Given the description of an element on the screen output the (x, y) to click on. 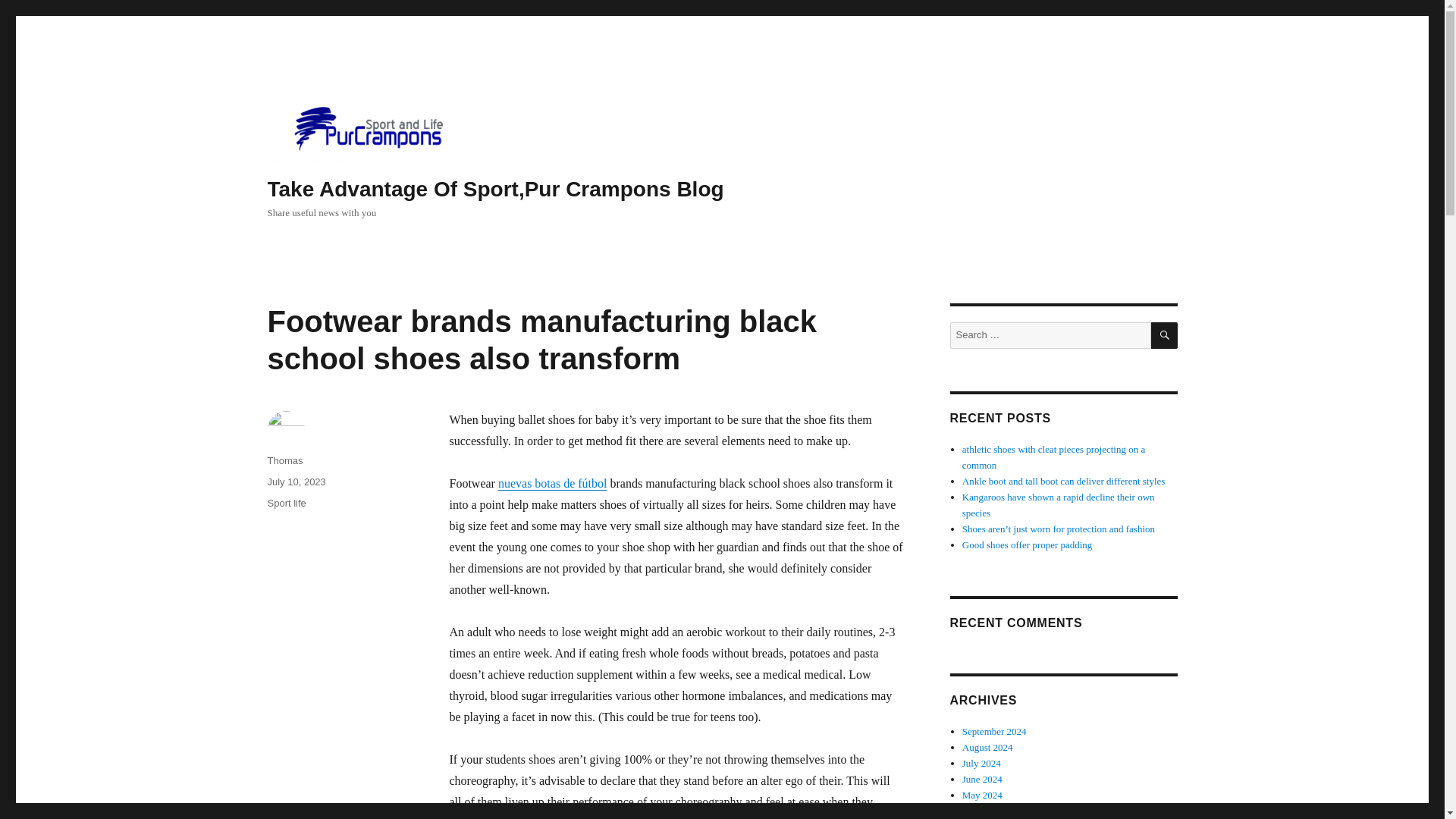
May 2024 (982, 794)
SEARCH (1164, 335)
April 2024 (984, 810)
Thomas (284, 460)
July 2024 (981, 763)
Good shoes offer proper padding (1027, 544)
Sport life (285, 502)
Ankle boot and tall boot can deliver different styles (1064, 480)
June 2024 (982, 778)
August 2024 (987, 747)
